Given the description of an element on the screen output the (x, y) to click on. 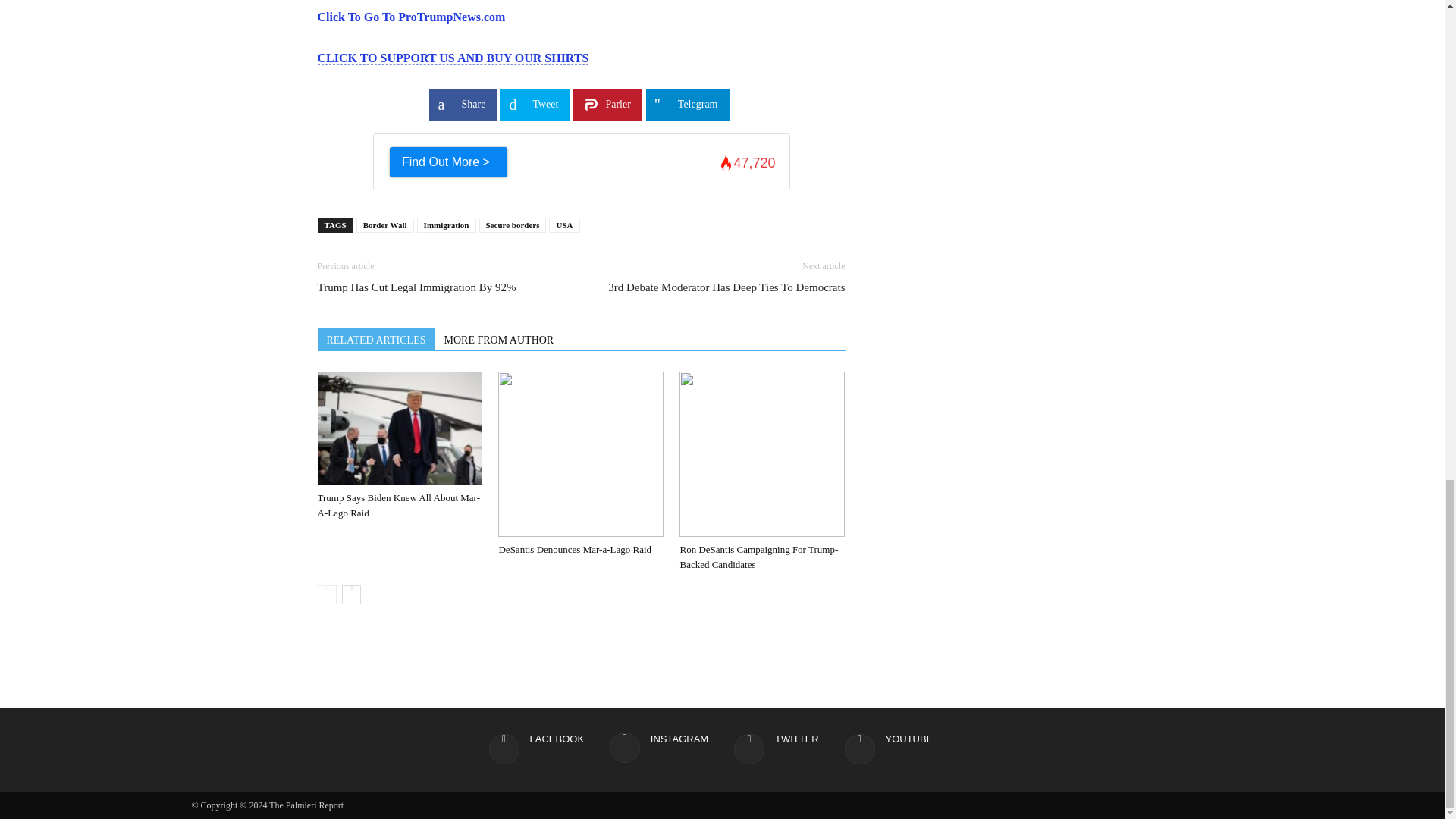
Share on Share (462, 104)
Share on Telegram (687, 104)
Trump Says Biden Knew All About Mar-A-Lago Raid (399, 428)
Share on Tweet (534, 104)
Share on Parler (607, 104)
